Given the description of an element on the screen output the (x, y) to click on. 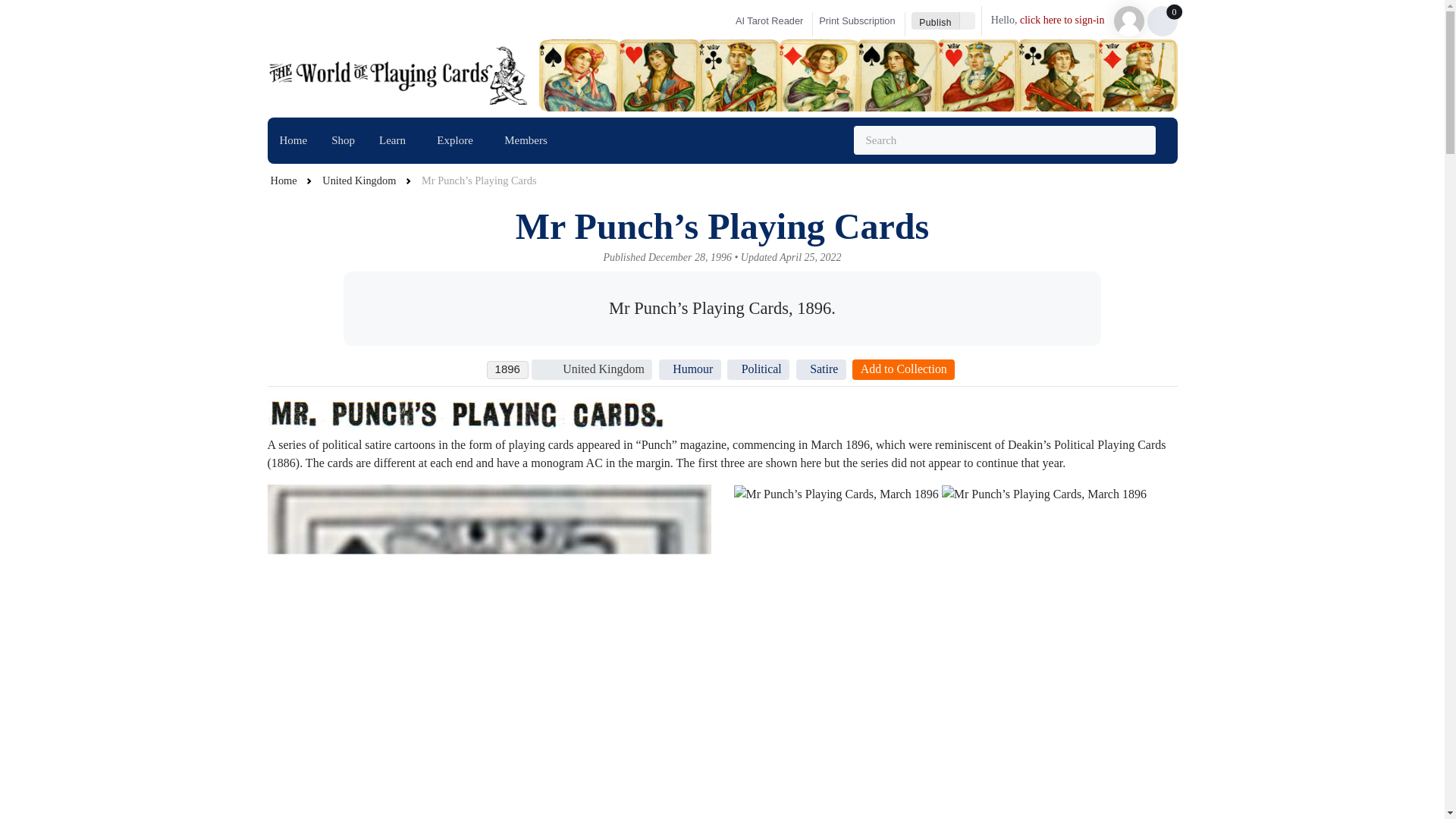
Print Subscription (861, 21)
Toggle Dropdown (967, 20)
Publish (935, 20)
Shop (410, 140)
Learn (342, 139)
Home (395, 140)
AI Tarot Reader (292, 139)
click here to sign-in (767, 21)
